Given the description of an element on the screen output the (x, y) to click on. 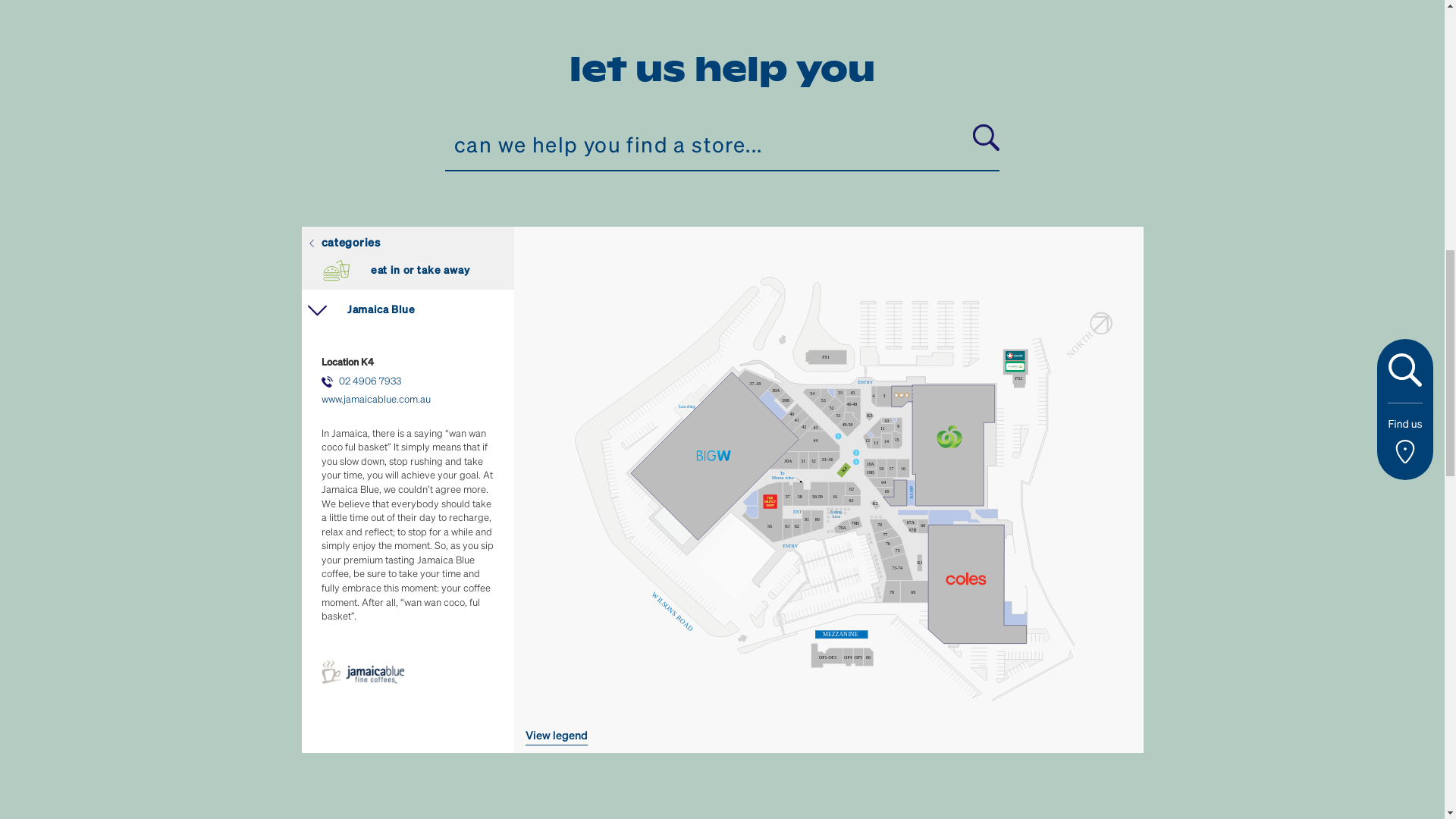
instagram Element type: hover (1129, 209)
time Element type: hover (1109, 290)
facebook Element type: hover (1101, 209)
Community Hub Element type: text (785, 211)
Privacy Policy Element type: text (385, 80)
3 Element type: text (746, 785)
Next Element type: text (1091, 772)
1 Element type: text (697, 785)
Enjoy a happy hour coffee! Element type: text (925, 596)
View More Offers Element type: text (925, 650)
Accept Element type: text (977, 56)
2 Element type: text (722, 785)
Shop Guide Element type: text (929, 211)
Reject Element type: text (1105, 56)
Previous Element type: text (1055, 772)
Find Us Element type: text (1036, 211)
